Given the description of an element on the screen output the (x, y) to click on. 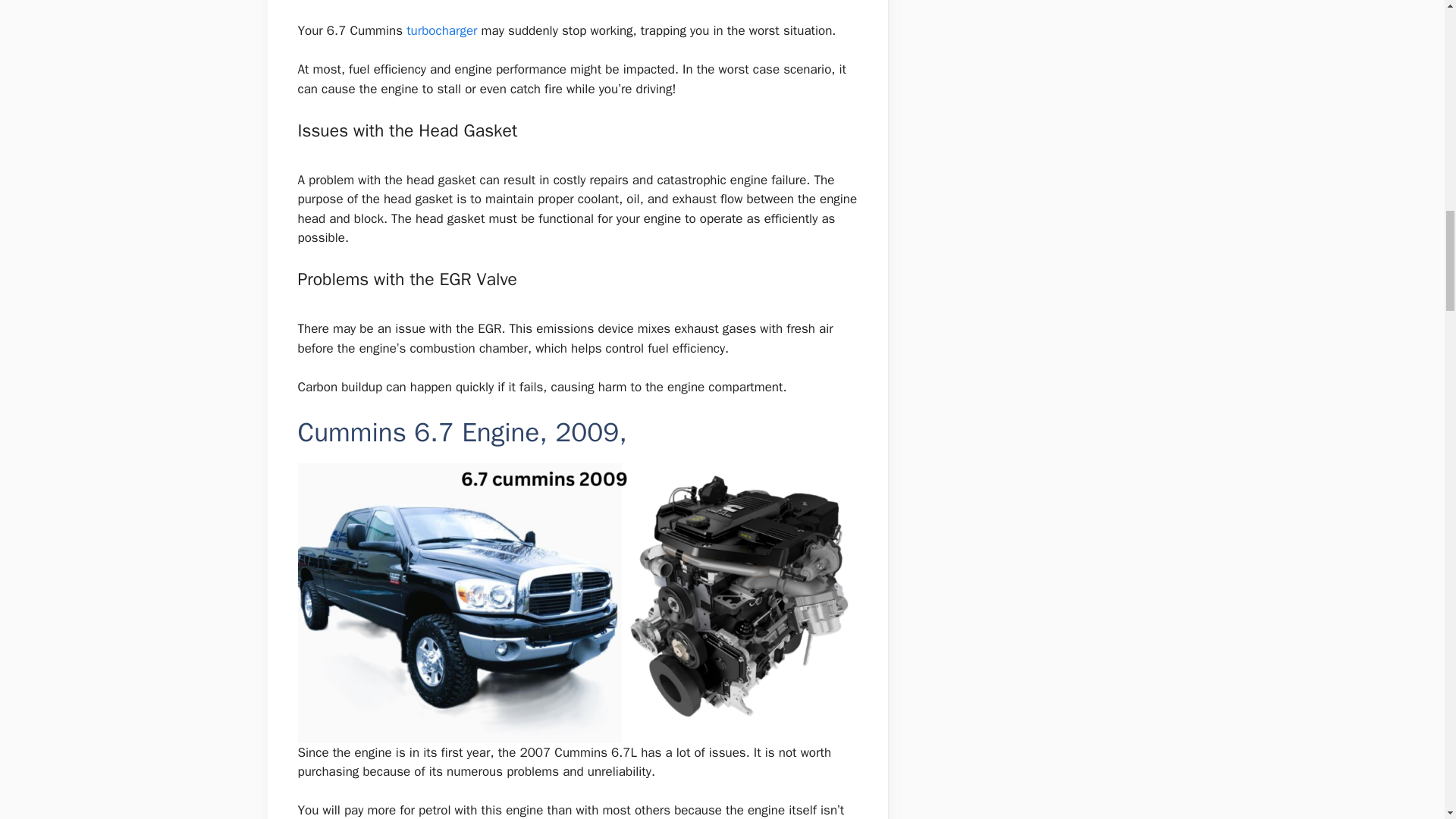
turbocharger (441, 30)
